Given the description of an element on the screen output the (x, y) to click on. 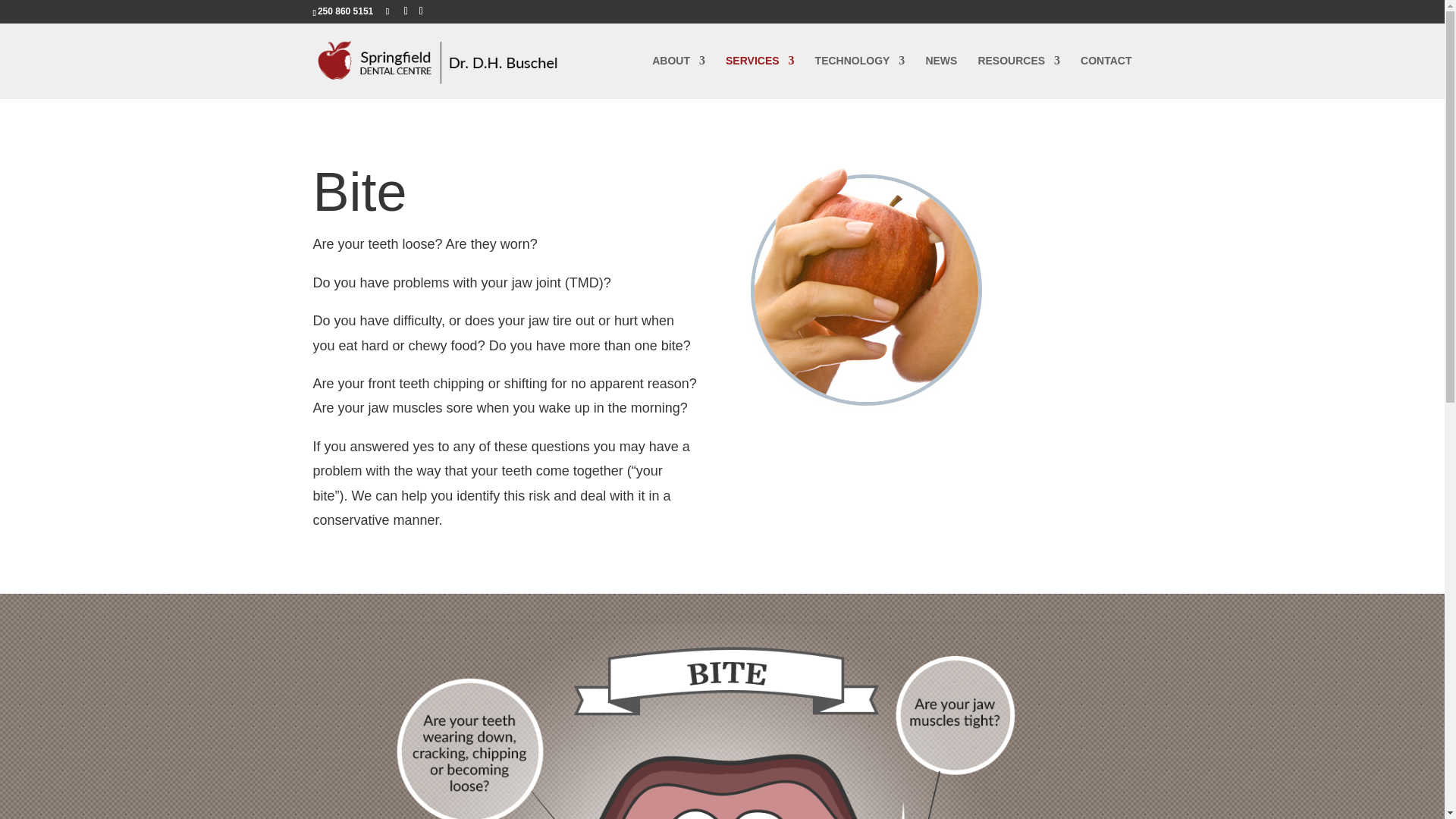
TECHNOLOGY (860, 76)
SERVICES (759, 76)
CONTACT (1105, 76)
ABOUT (678, 76)
RESOURCES (1017, 76)
